Given the description of an element on the screen output the (x, y) to click on. 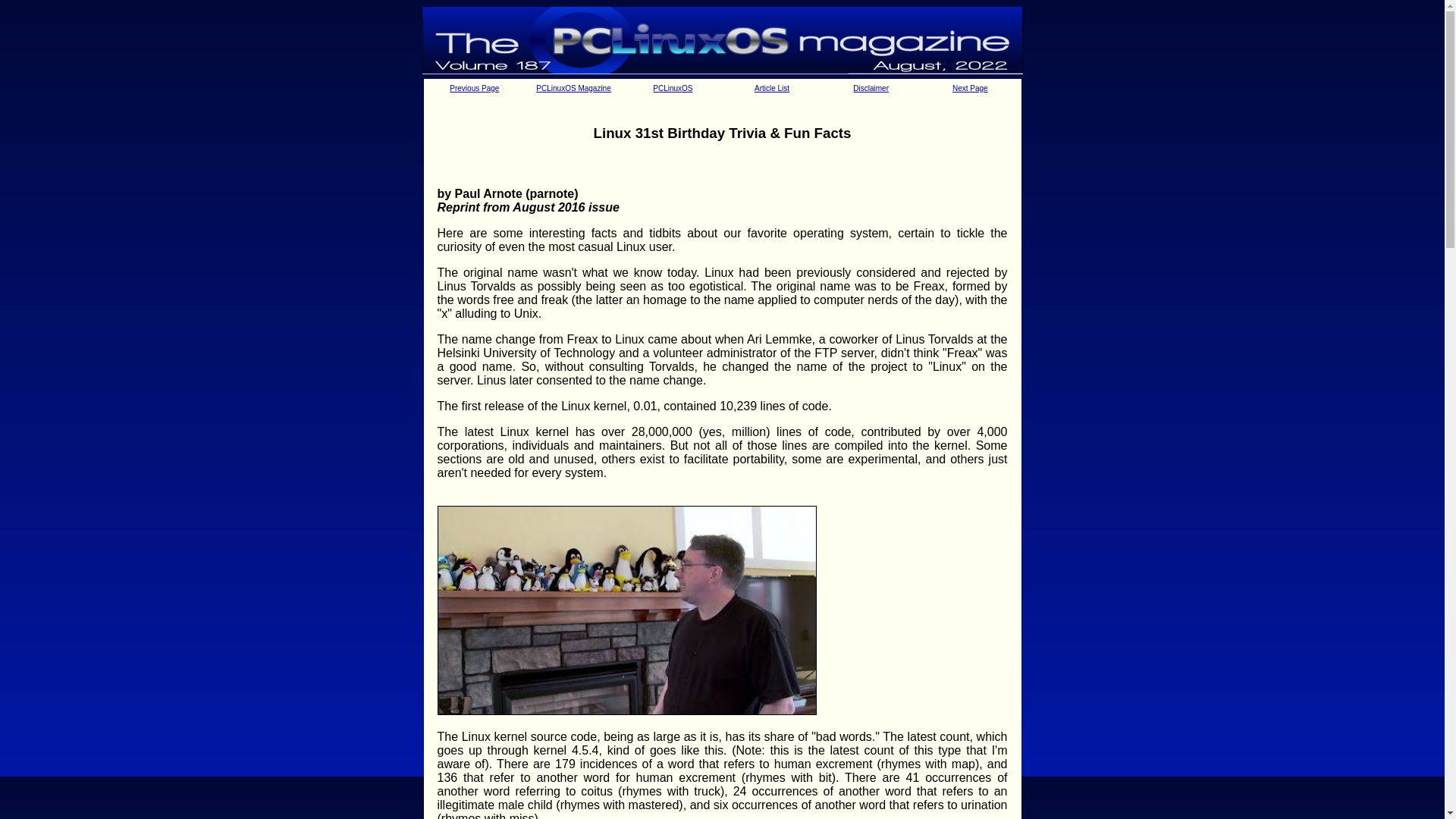
Previous Page (474, 88)
